Given the description of an element on the screen output the (x, y) to click on. 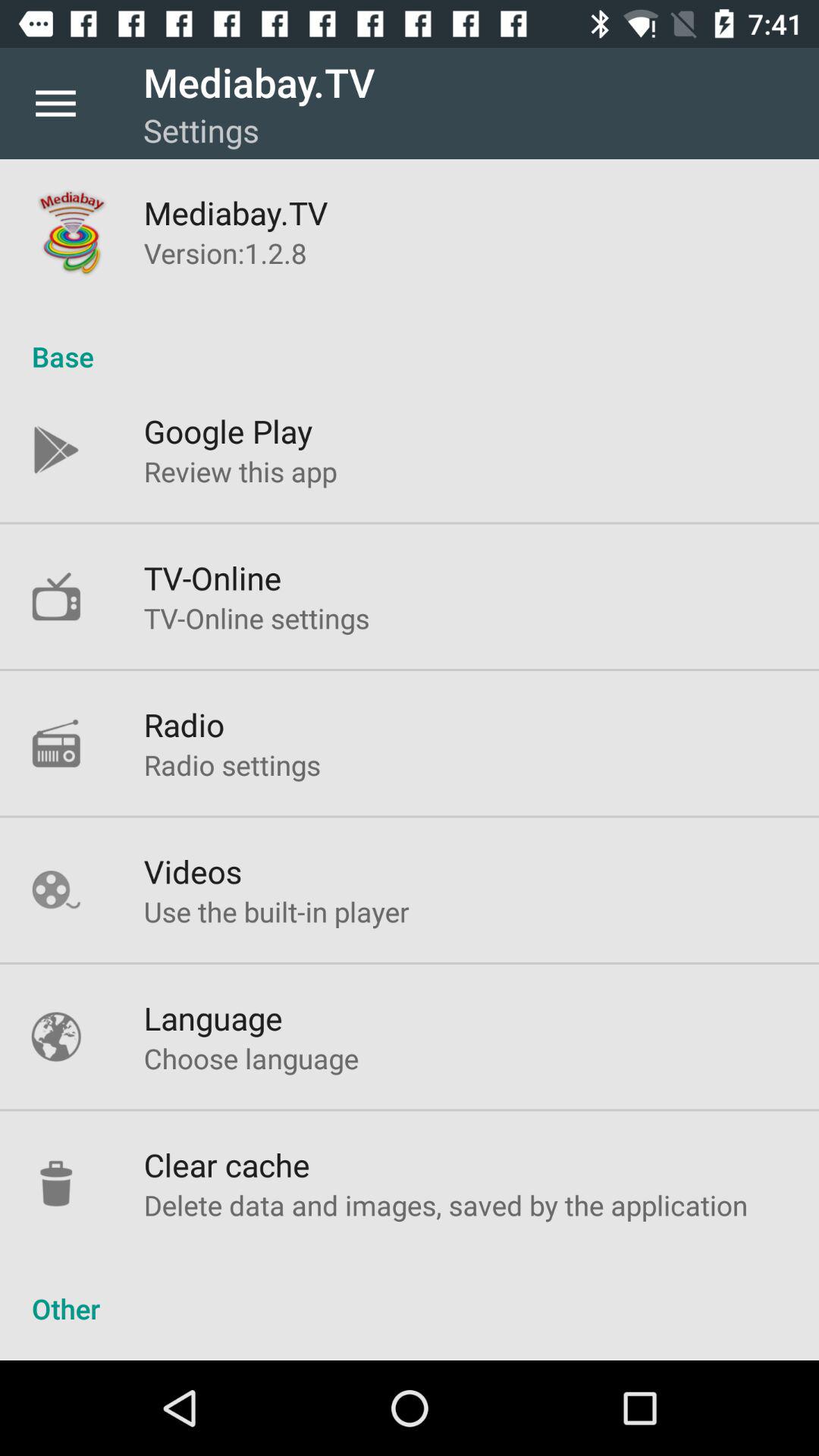
turn off the other icon (409, 1292)
